Given the description of an element on the screen output the (x, y) to click on. 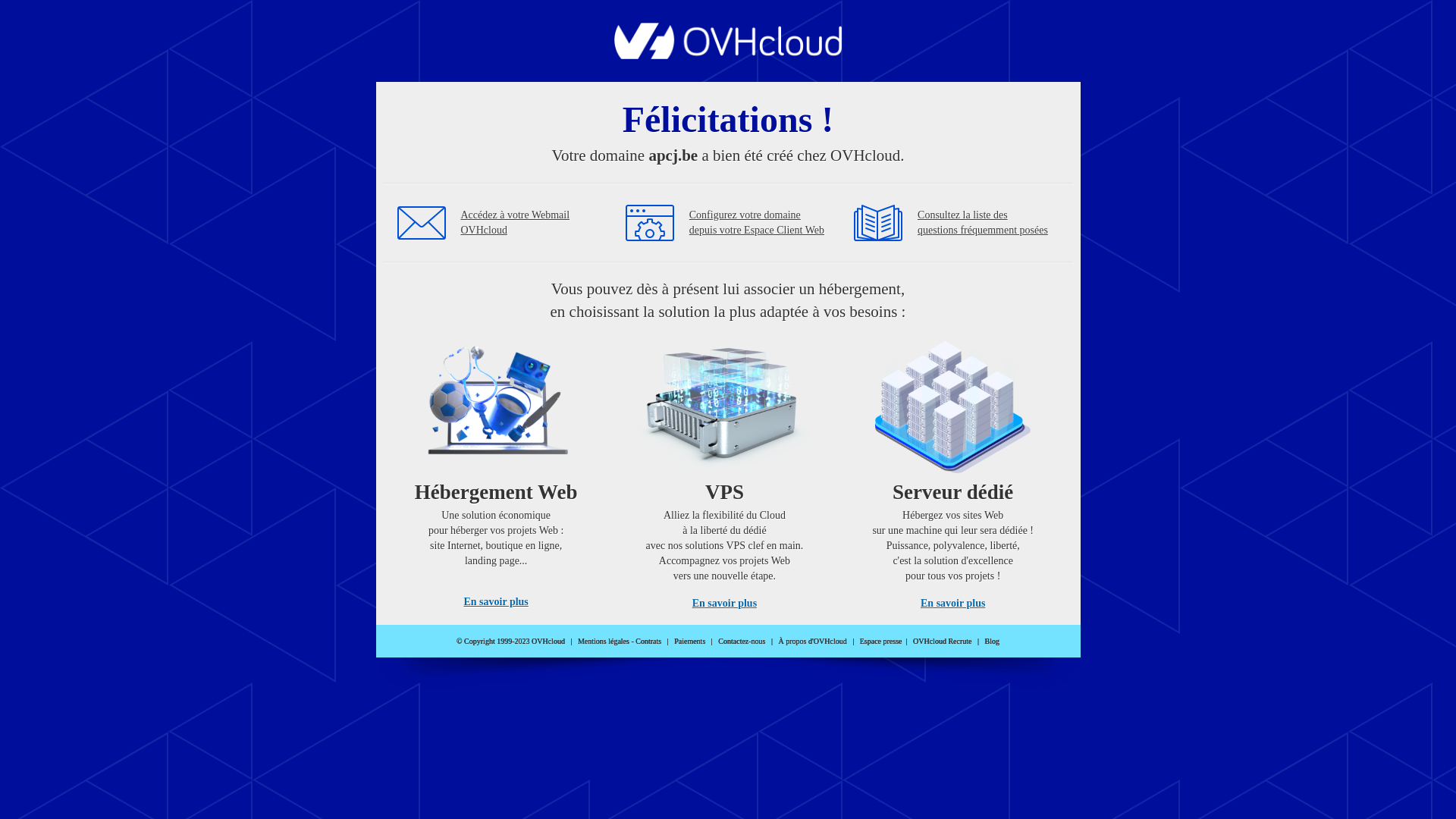
Paiements Element type: text (689, 641)
En savoir plus Element type: text (952, 602)
Espace presse Element type: text (880, 641)
OVHcloud Recrute Element type: text (942, 641)
Contactez-nous Element type: text (741, 641)
OVHcloud Element type: hover (727, 54)
Blog Element type: text (992, 641)
Configurez votre domaine
depuis votre Espace Client Web Element type: text (756, 222)
En savoir plus Element type: text (724, 602)
VPS Element type: hover (724, 469)
En savoir plus Element type: text (495, 601)
